Given the description of an element on the screen output the (x, y) to click on. 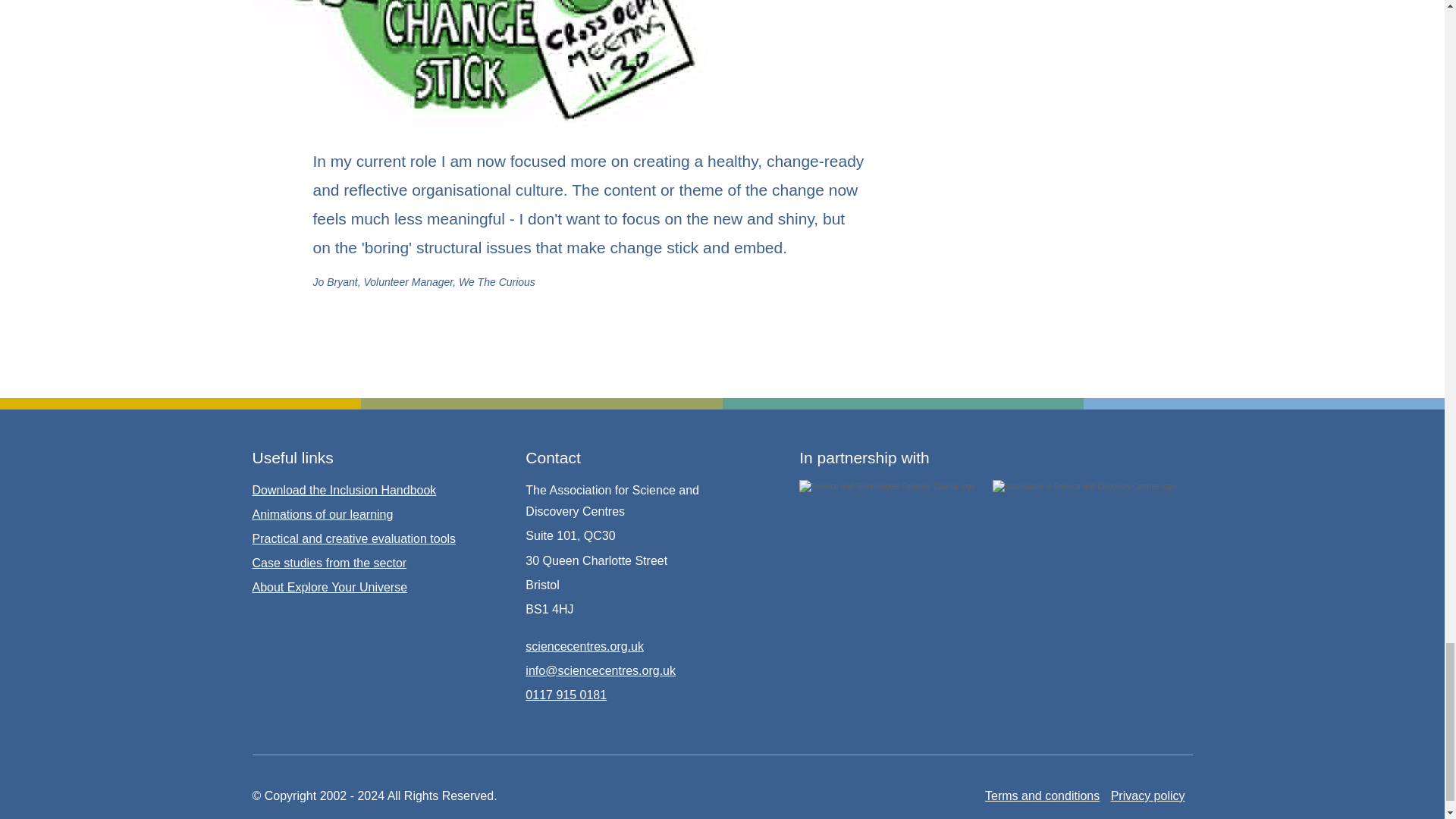
Case studies from the sector (328, 562)
Animations of our learning (322, 513)
About Explore Your Universe (329, 586)
Download the Inclusion Handbook (343, 490)
sciencecentres.org.uk (584, 645)
Practical and creative evaluation tools (353, 538)
